Given the description of an element on the screen output the (x, y) to click on. 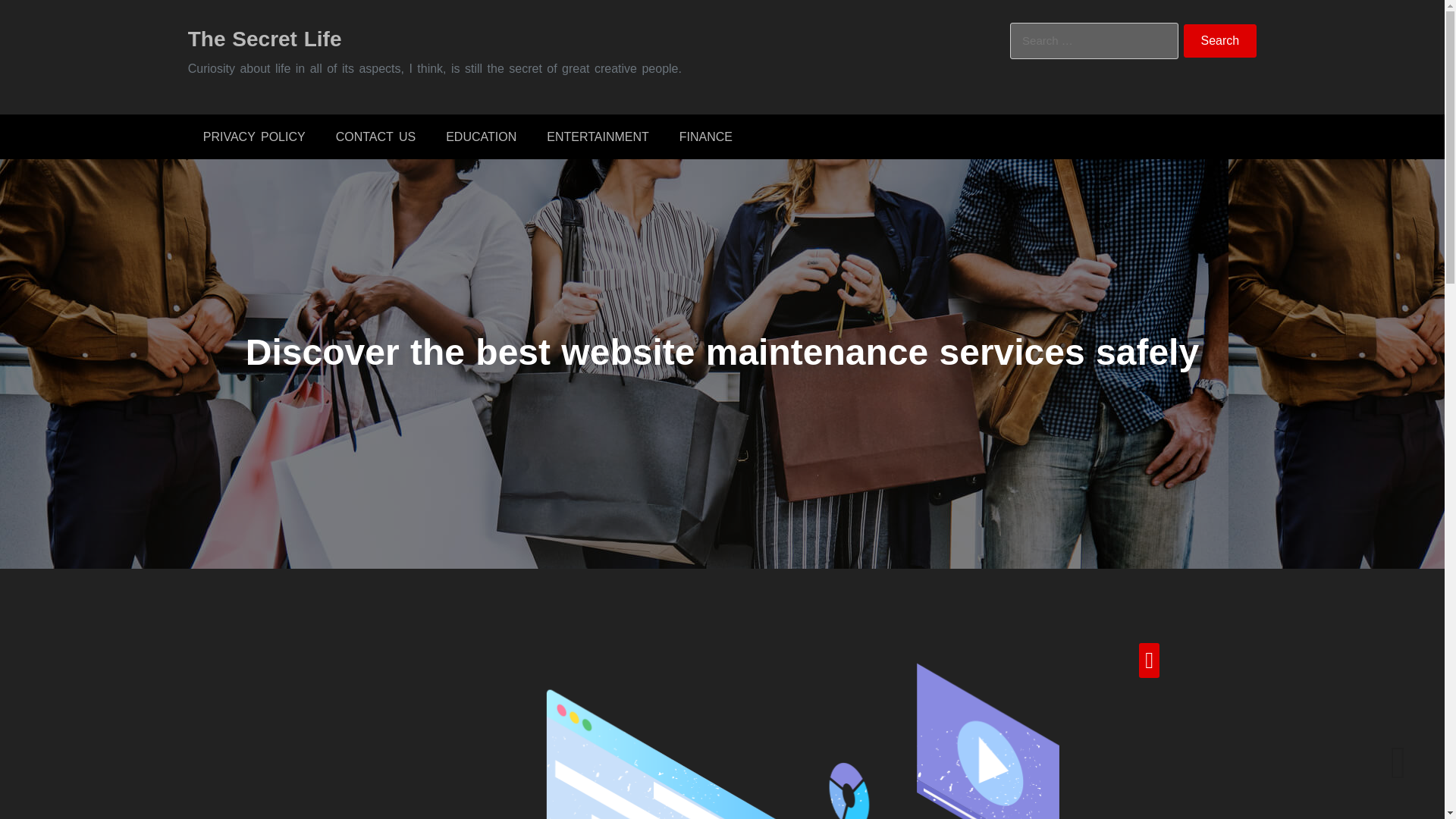
The Secret Life (264, 38)
ENTERTAINMENT (597, 136)
FINANCE (705, 136)
CONTACT US (375, 136)
Search (1220, 40)
Search (1220, 40)
EDUCATION (480, 136)
Search (1220, 40)
PRIVACY POLICY (253, 136)
